Given the description of an element on the screen output the (x, y) to click on. 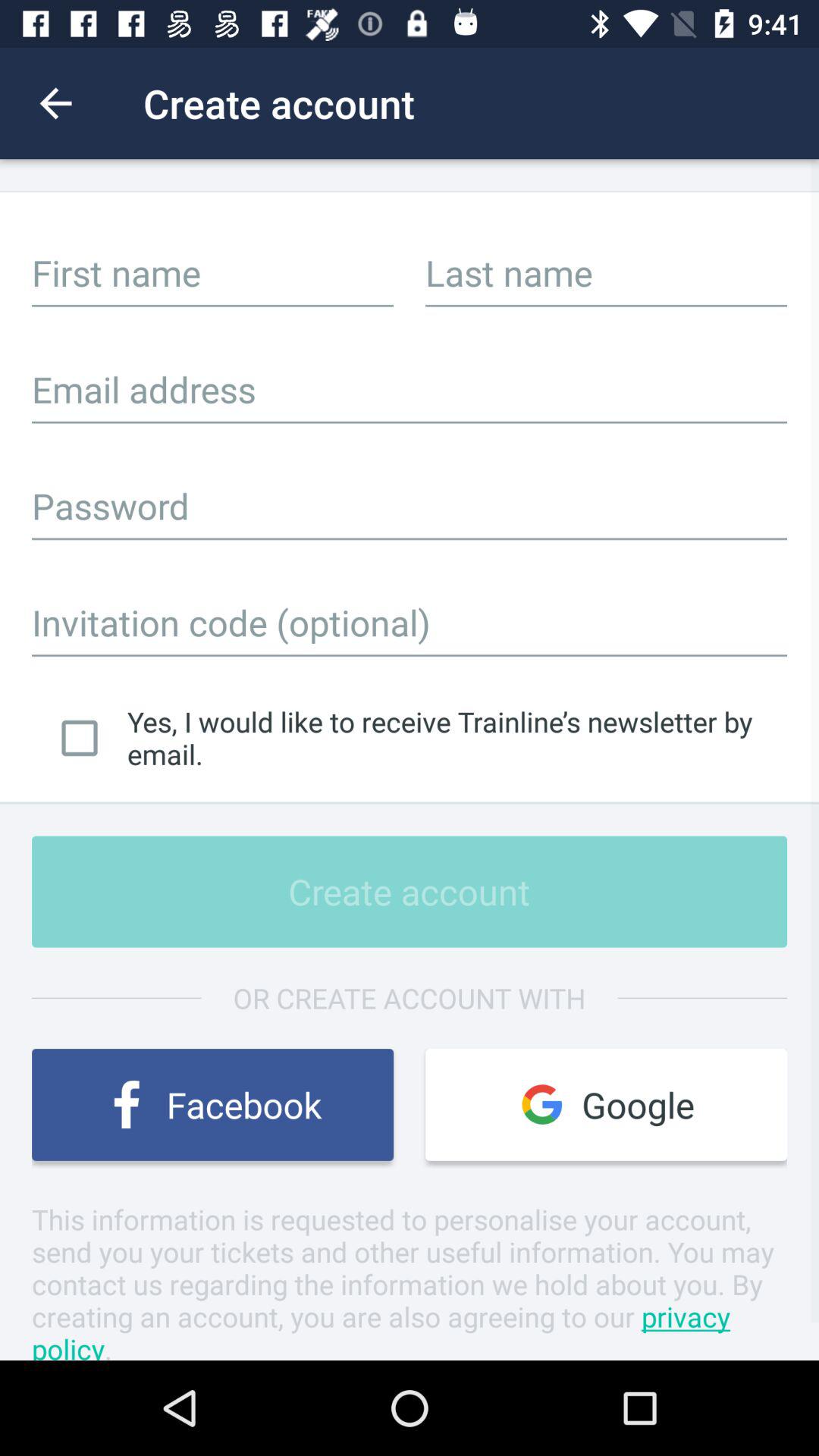
launch item to the left of create account item (55, 103)
